Given the description of an element on the screen output the (x, y) to click on. 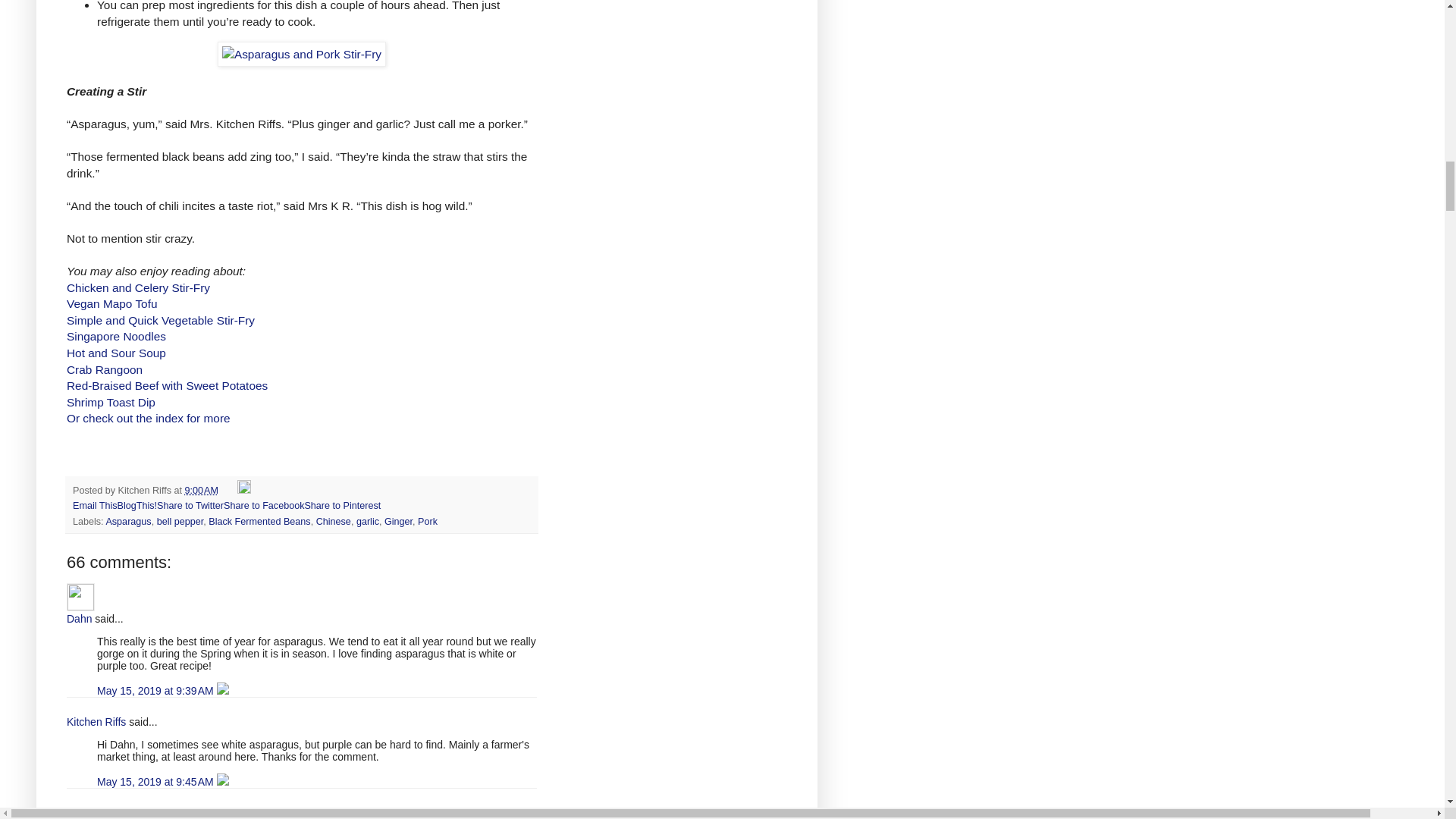
Asparagus (127, 521)
garlic (367, 521)
Asparagus and Pork Stir-Fry (300, 54)
Shrimp Toast Dip (110, 401)
Hot and Sour Soup (115, 352)
Share to Facebook (264, 505)
Vegan Mapo Tofu (111, 303)
Red-Braised Beef with Sweet Potatoes (166, 385)
Share to Pinterest (342, 505)
Dahn (80, 596)
Share to Twitter (190, 505)
Simple and Quick Vegetable Stir-Fry (160, 319)
Share to Twitter (190, 505)
bell pepper (180, 521)
Email This (94, 505)
